Given the description of an element on the screen output the (x, y) to click on. 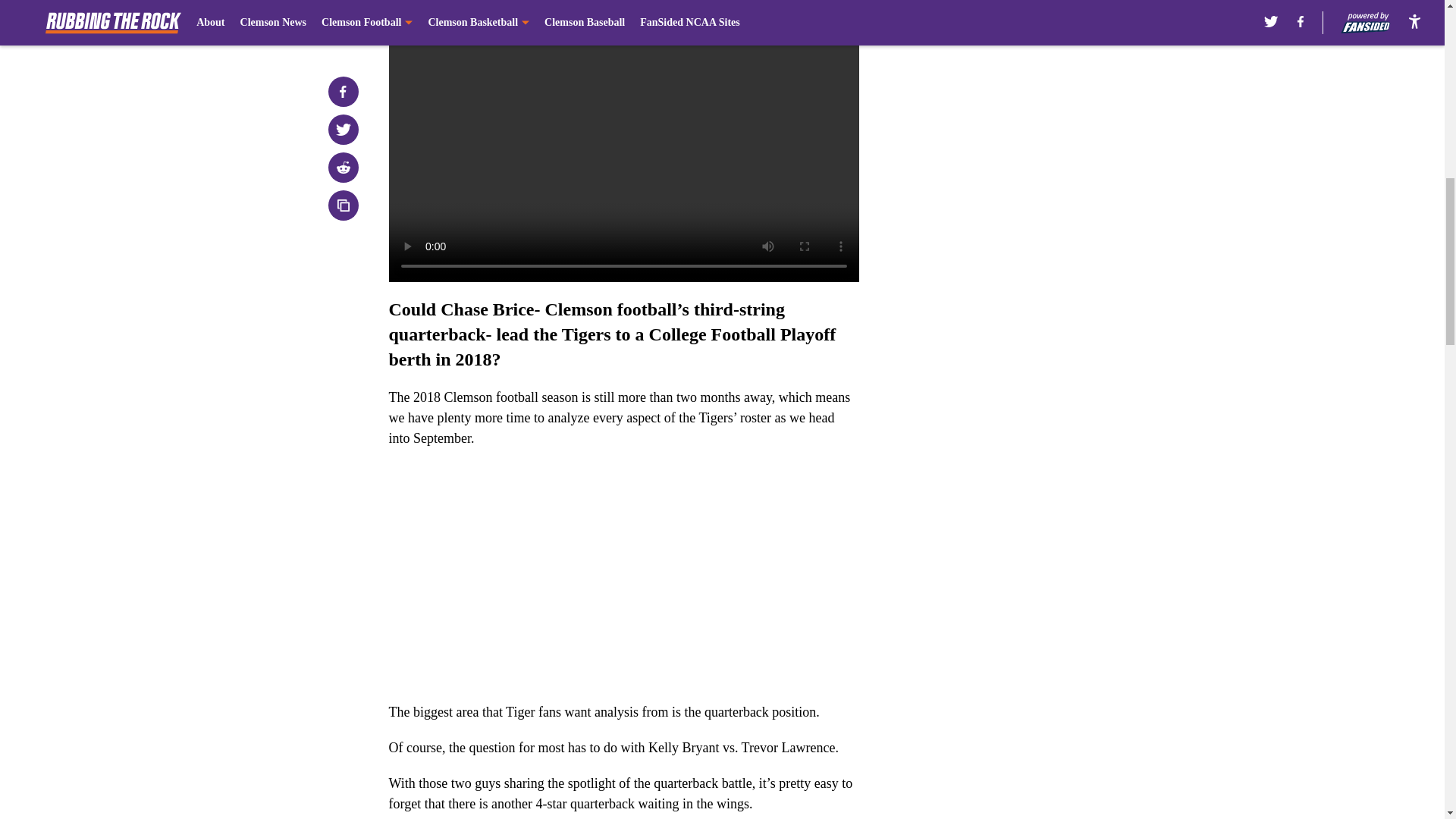
3rd party ad content (1047, 332)
3rd party ad content (1047, 113)
